Given the description of an element on the screen output the (x, y) to click on. 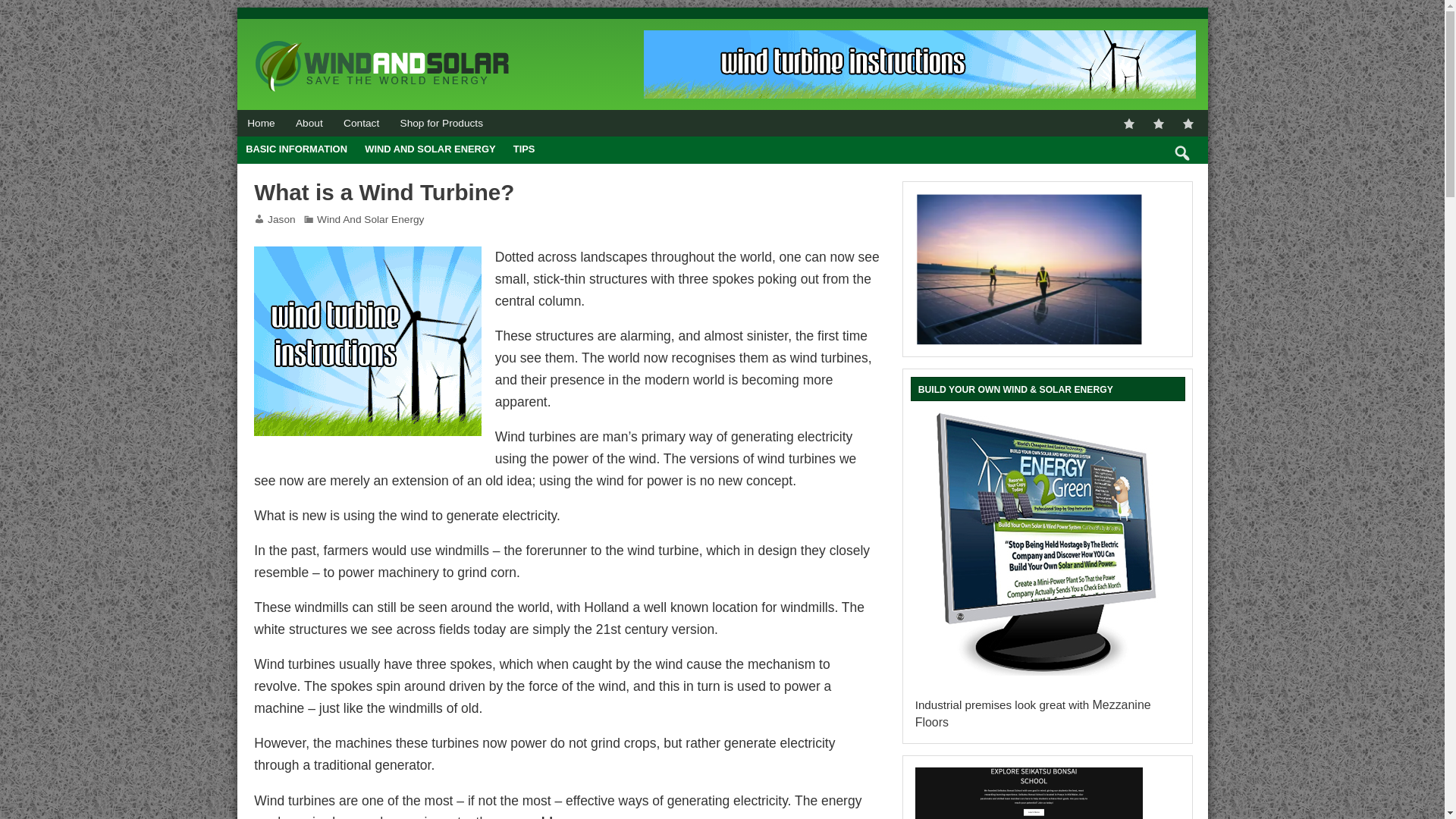
View all posts by Jason (281, 219)
Build Your Own Wind and Solar Energy (1047, 551)
TIPS (523, 149)
About (309, 122)
Jason (281, 219)
WIND AND SOLAR ENERGY (430, 149)
Free Energy Options (919, 64)
BASIC INFORMATION (295, 149)
Contact (360, 122)
Wind and Solar (382, 42)
Wind And Solar Energy (370, 219)
Shop for Products (441, 122)
Home (260, 122)
Free Energy Options (367, 340)
Free Energy Options (367, 256)
